Given the description of an element on the screen output the (x, y) to click on. 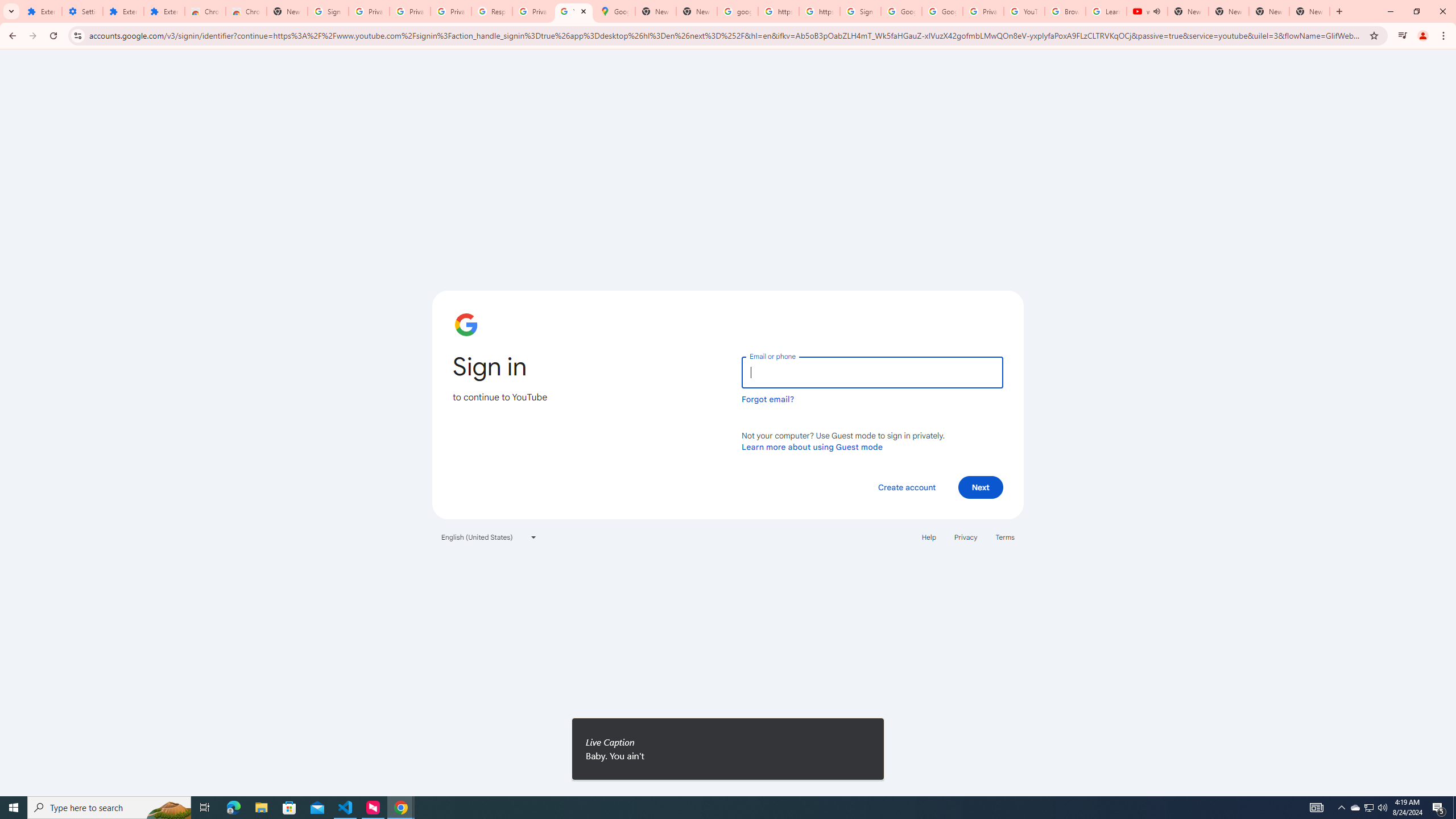
New Tab (1309, 11)
Sign in - Google Accounts (327, 11)
Sign in - Google Accounts (860, 11)
Create account (905, 486)
https://scholar.google.com/ (777, 11)
